Given the description of an element on the screen output the (x, y) to click on. 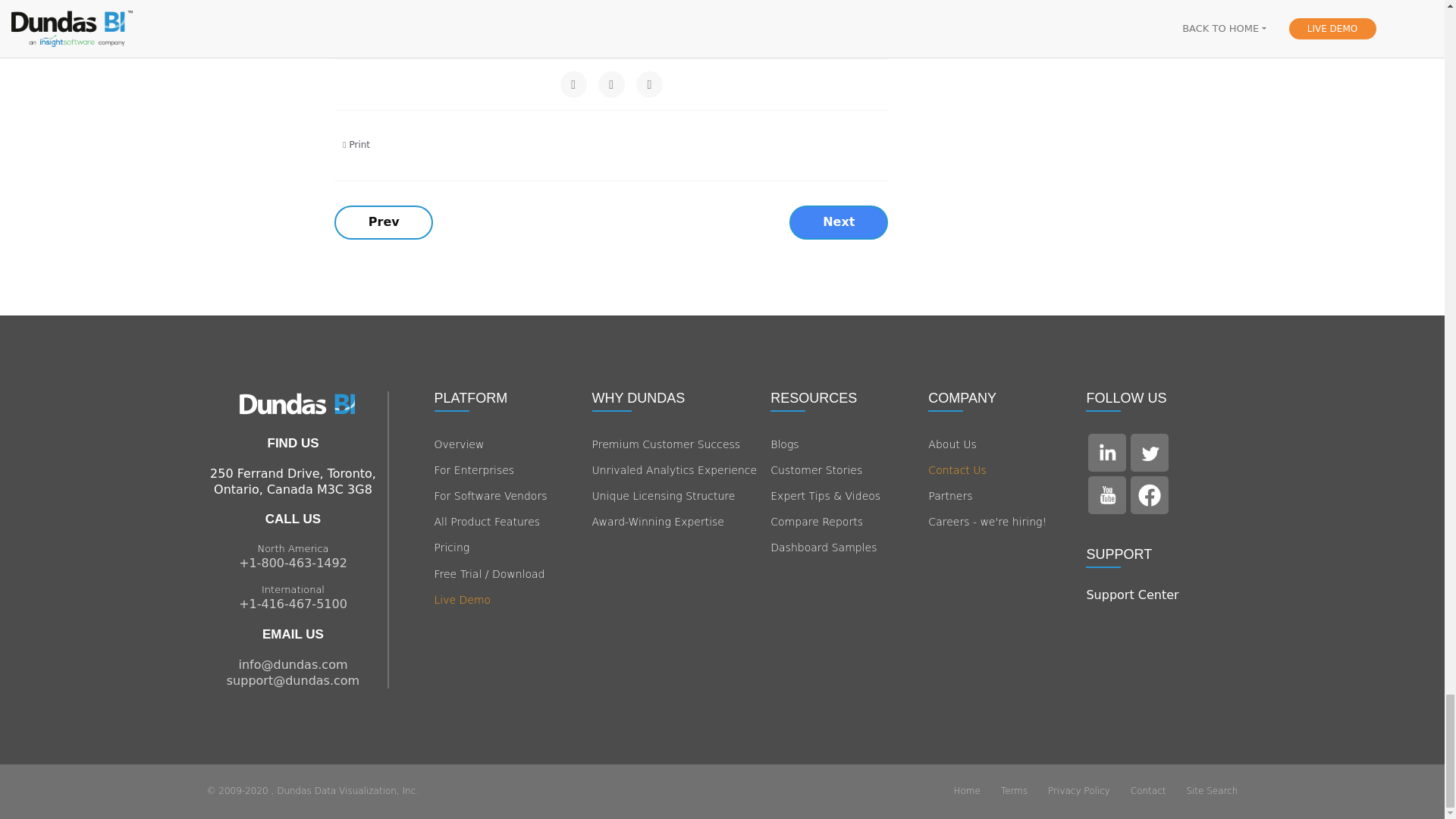
Next (838, 222)
LinkedIn (649, 84)
Print (357, 144)
Facebook (573, 84)
Twitter (611, 84)
Prev (383, 222)
